Given the description of an element on the screen output the (x, y) to click on. 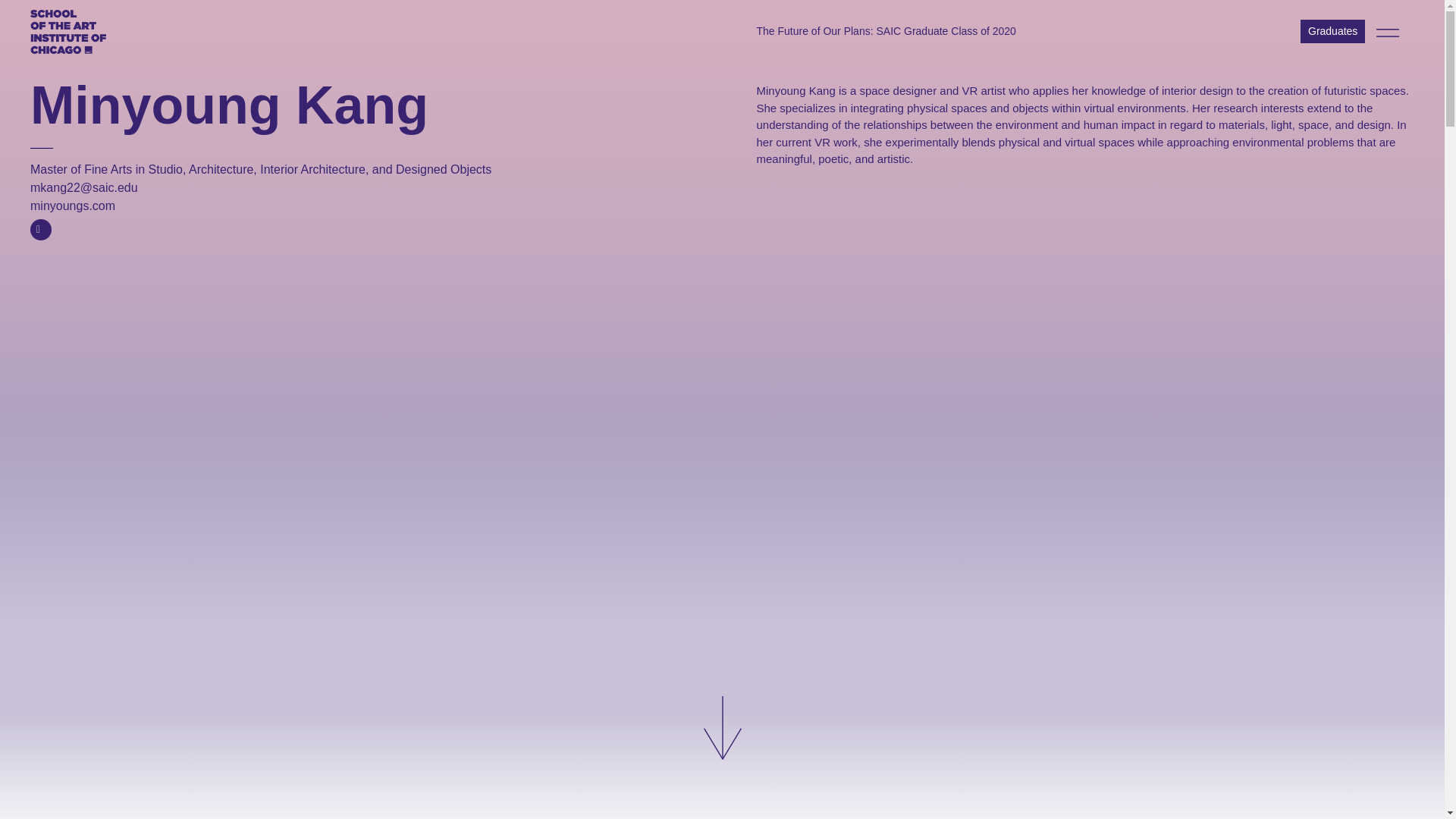
minyoungs.com (72, 205)
Graduates (1332, 31)
The Future of Our Plans: SAIC Graduate Class of 2020 (886, 31)
